Given the description of an element on the screen output the (x, y) to click on. 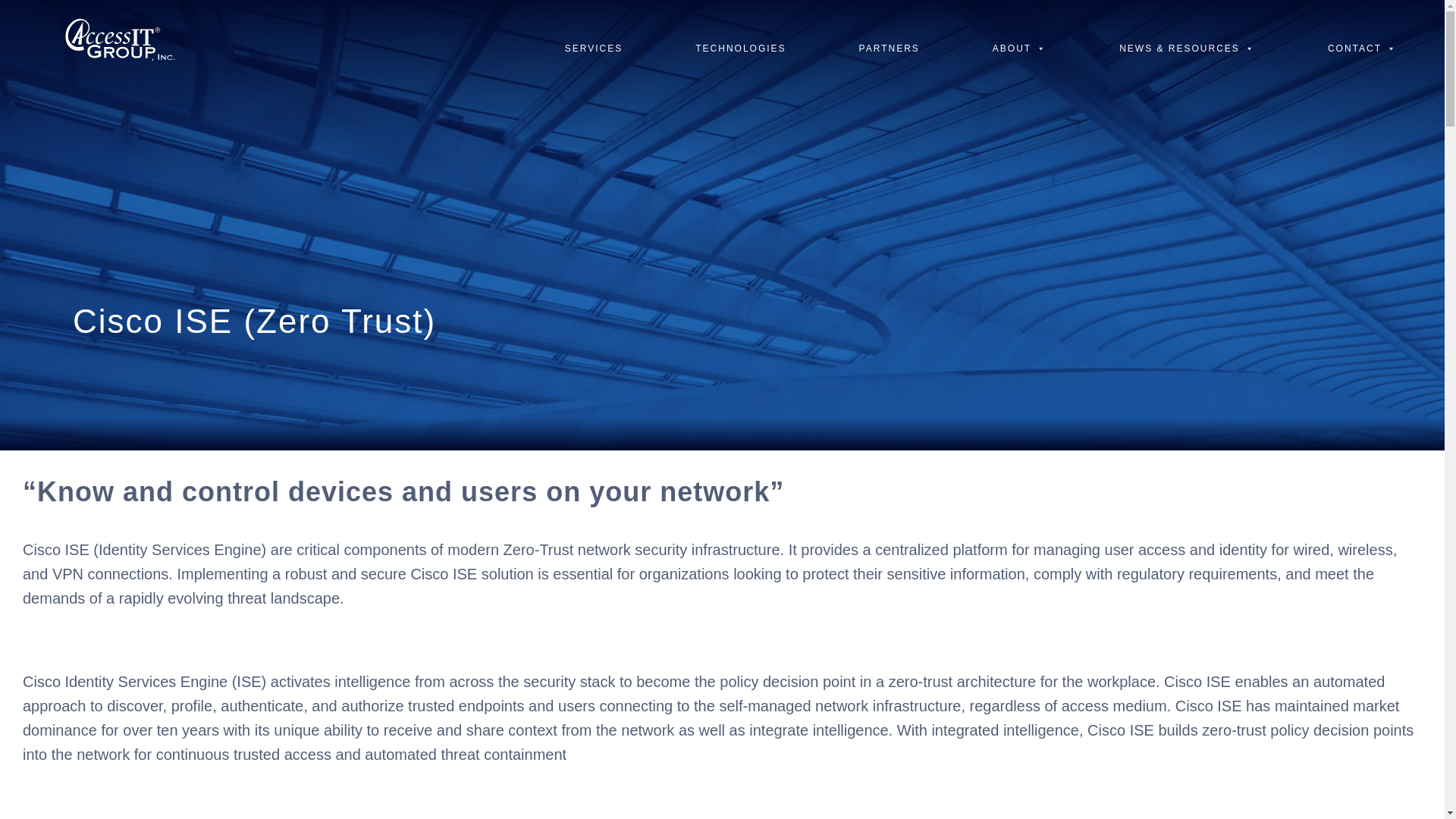
ABOUT (1019, 46)
CONTACT (1361, 46)
SERVICES (593, 46)
PARTNERS (889, 46)
TECHNOLOGIES (740, 46)
AccessIT Group (119, 43)
